Given the description of an element on the screen output the (x, y) to click on. 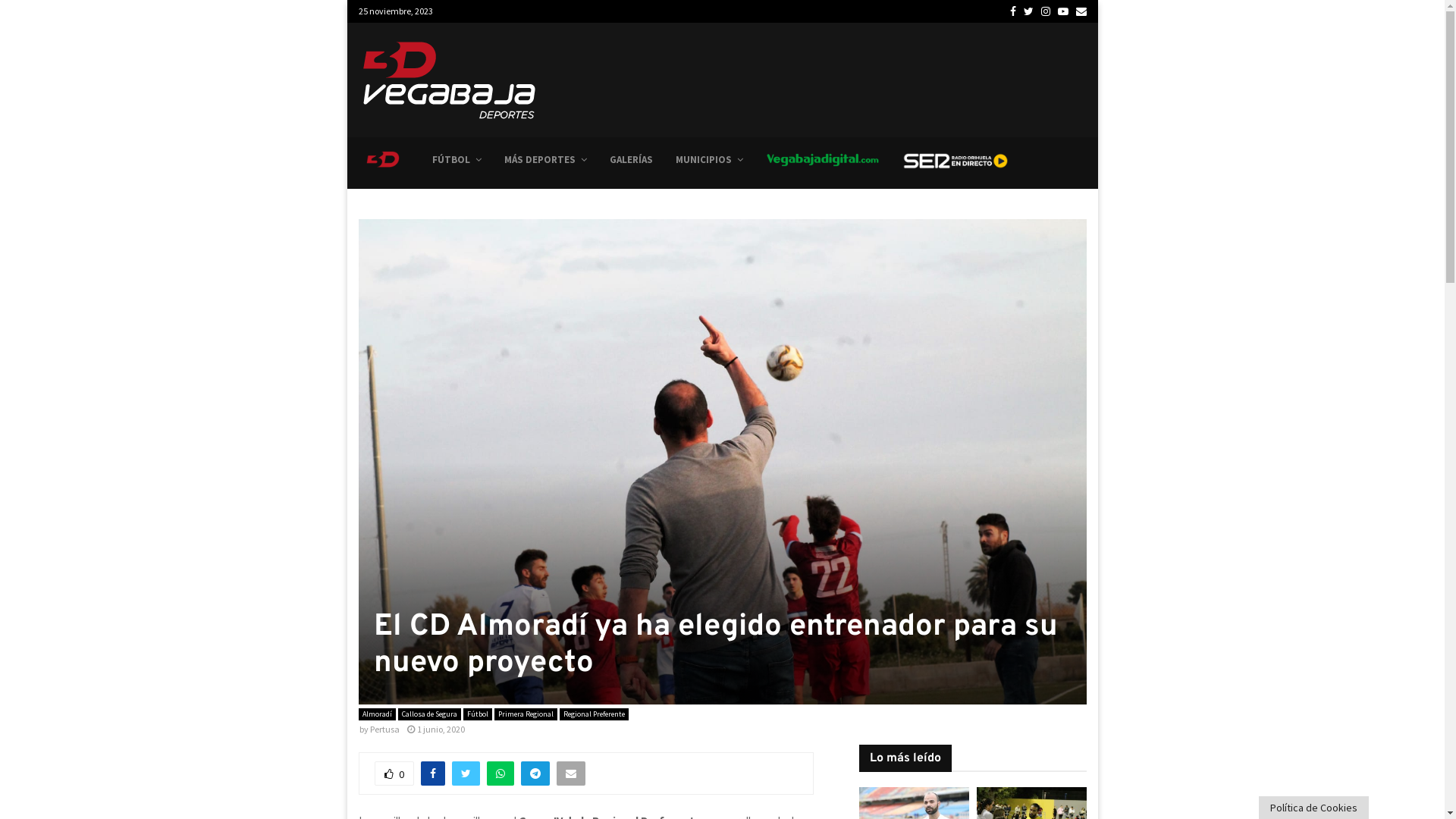
Regional Preferente Element type: text (593, 714)
PORTADA Element type: text (386, 158)
0 Element type: text (394, 773)
Primera Regional Element type: text (525, 714)
Email Element type: text (1080, 11)
Twitter Element type: text (1028, 11)
Youtube Element type: text (1062, 11)
Facebook Element type: text (1013, 11)
Callosa de Segura Element type: text (428, 714)
Pertusa Element type: text (384, 728)
MUNICIPIOS Element type: text (708, 159)
Instagram Element type: text (1044, 11)
